Given the description of an element on the screen output the (x, y) to click on. 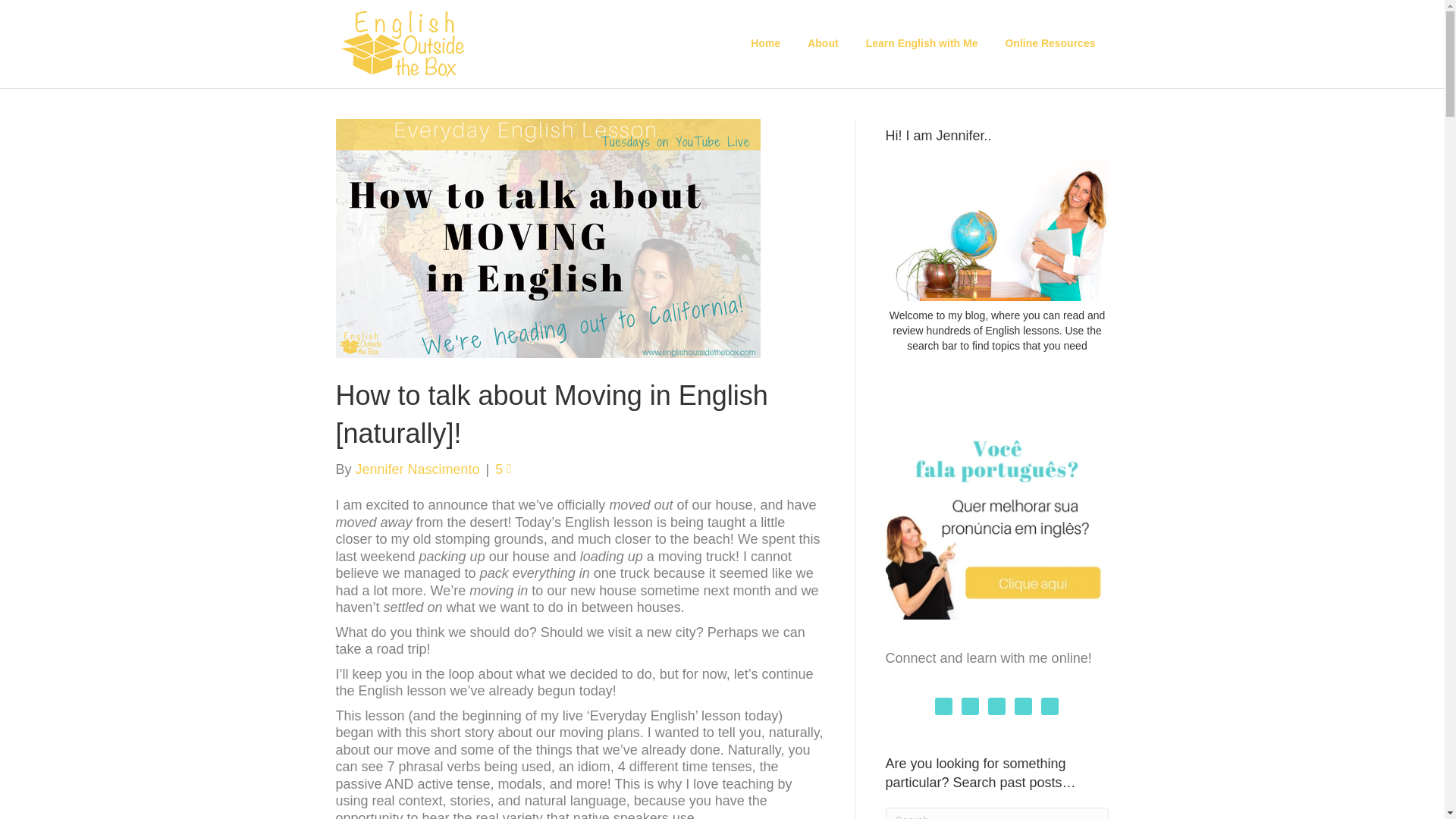
Home (764, 44)
Jennifer Nascimento (417, 468)
Learn English with Me (921, 44)
5 (503, 468)
About (822, 44)
Type and press Enter to search. (997, 813)
Online Resources (1049, 44)
